Given the description of an element on the screen output the (x, y) to click on. 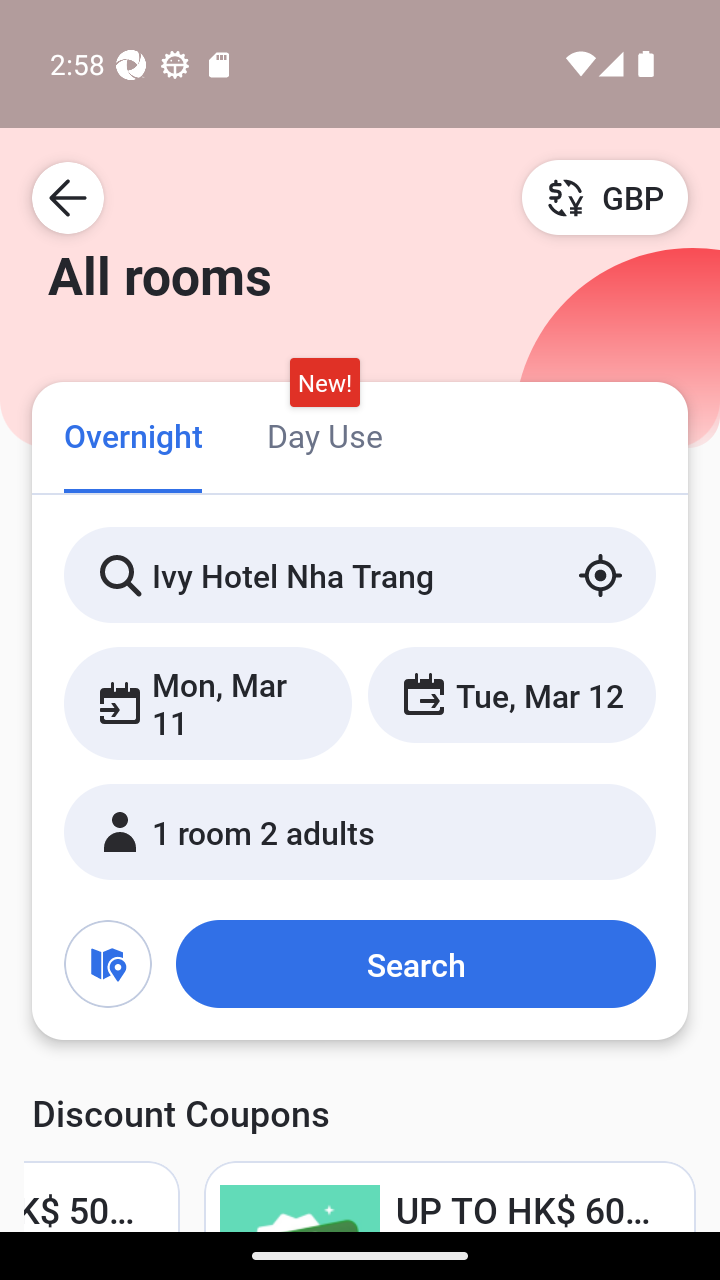
GBP (605, 197)
New! (324, 383)
Day Use (324, 434)
Ivy Hotel Nha Trang (359, 575)
Mon, Mar 11 (208, 703)
Tue, Mar 12 (511, 694)
1 room 2 adults (359, 831)
Search (415, 964)
